Given the description of an element on the screen output the (x, y) to click on. 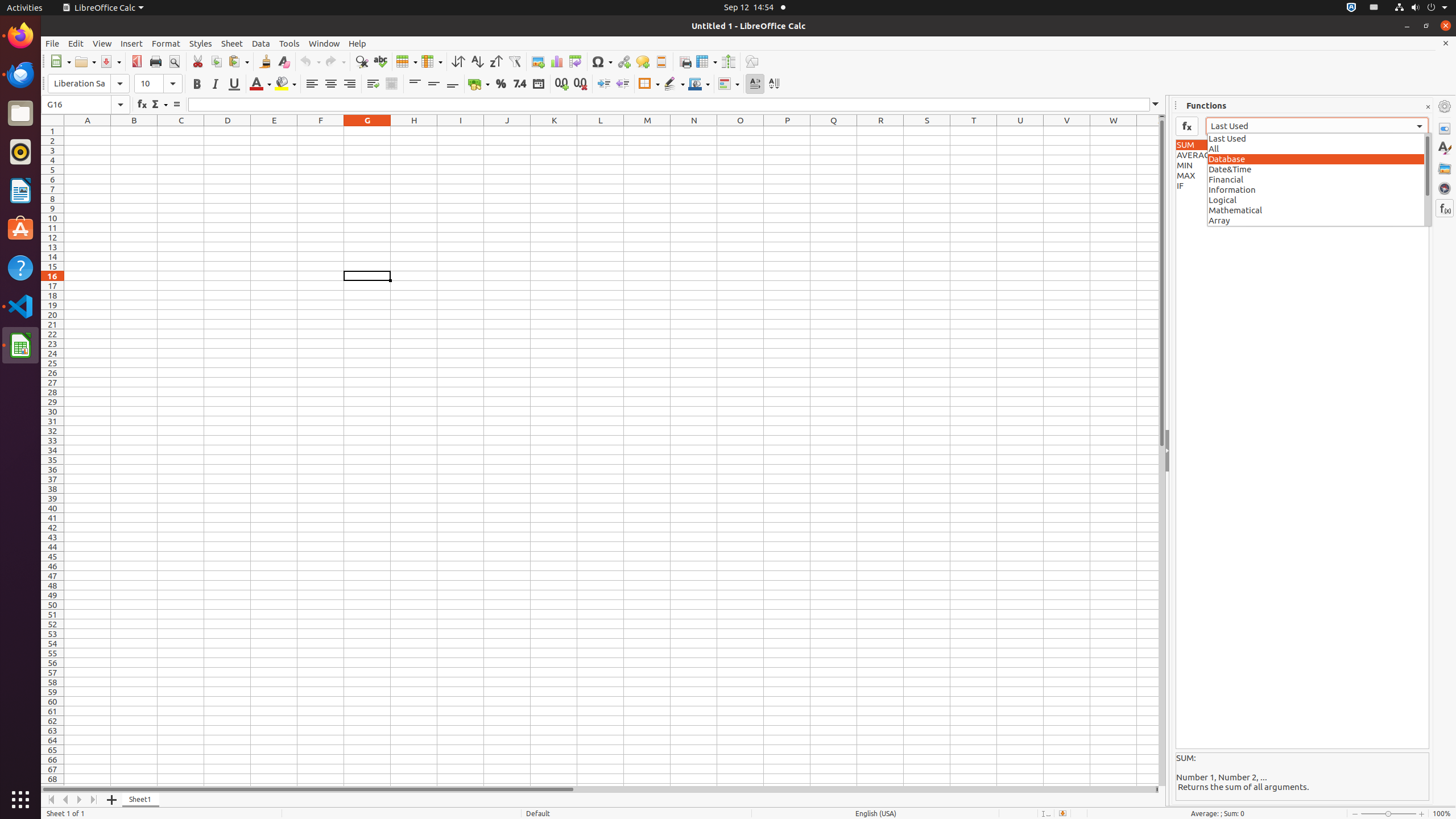
Properties Element type: radio-button (1444, 128)
Edit Element type: menu (75, 43)
Insert Function into calculation sheet Element type: push-button (1186, 125)
Formula Element type: push-button (176, 104)
Ubuntu Software Element type: push-button (20, 229)
